Given the description of an element on the screen output the (x, y) to click on. 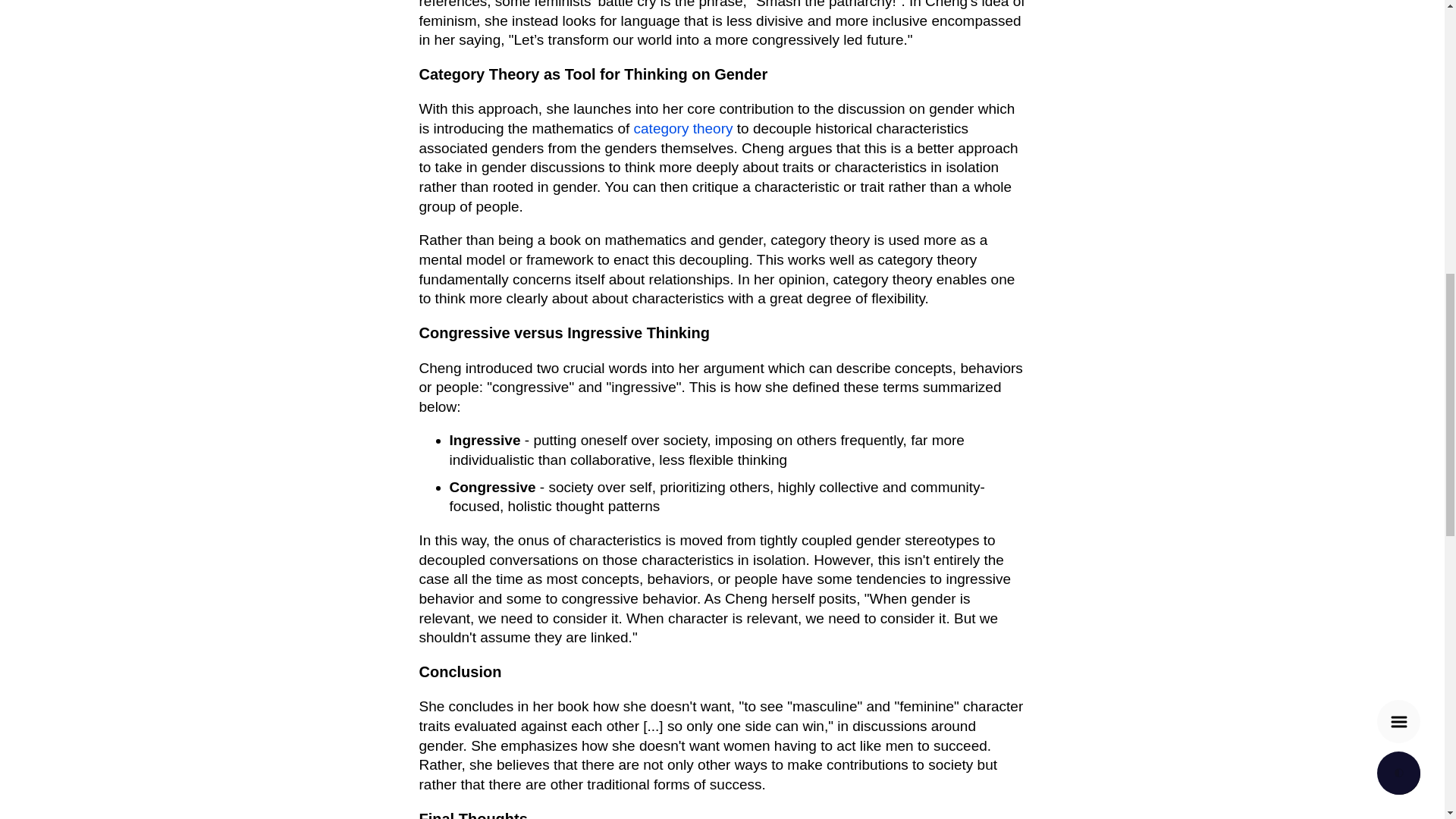
Congressive versus Ingressive Thinking (564, 332)
Final Thoughts (473, 814)
Category Theory as Tool for Thinking on Gender (593, 74)
Conclusion (459, 671)
category theory (683, 128)
